Given the description of an element on the screen output the (x, y) to click on. 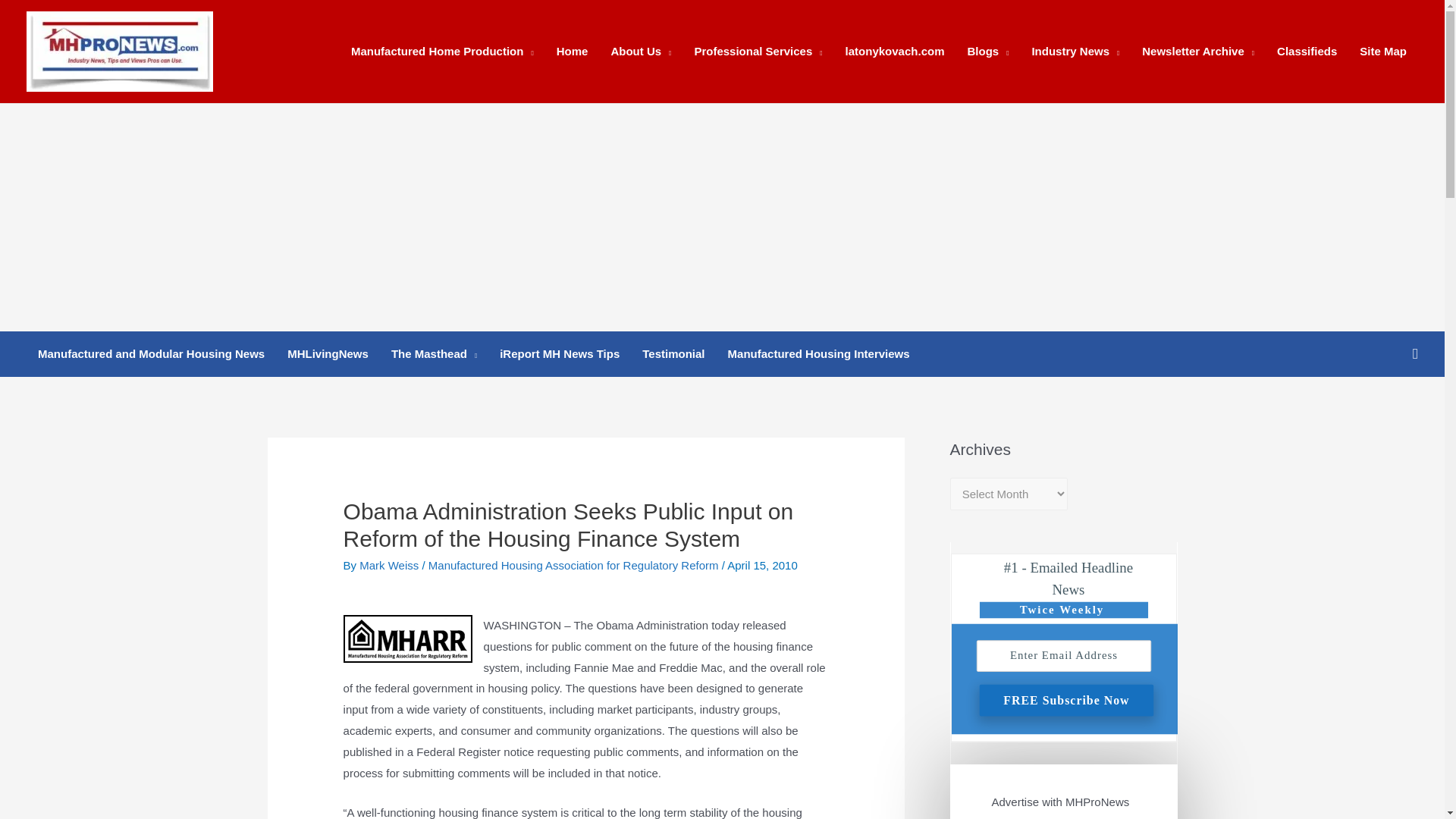
About Us (640, 51)
latonykovach.com (895, 51)
Industry News (1075, 51)
Newsletter Archive (1198, 51)
Site Map (1383, 51)
Blogs (987, 51)
Professional Services (757, 51)
Home (571, 51)
View all posts by Mark Weiss (390, 564)
Manufactured Home Production (441, 51)
